Given the description of an element on the screen output the (x, y) to click on. 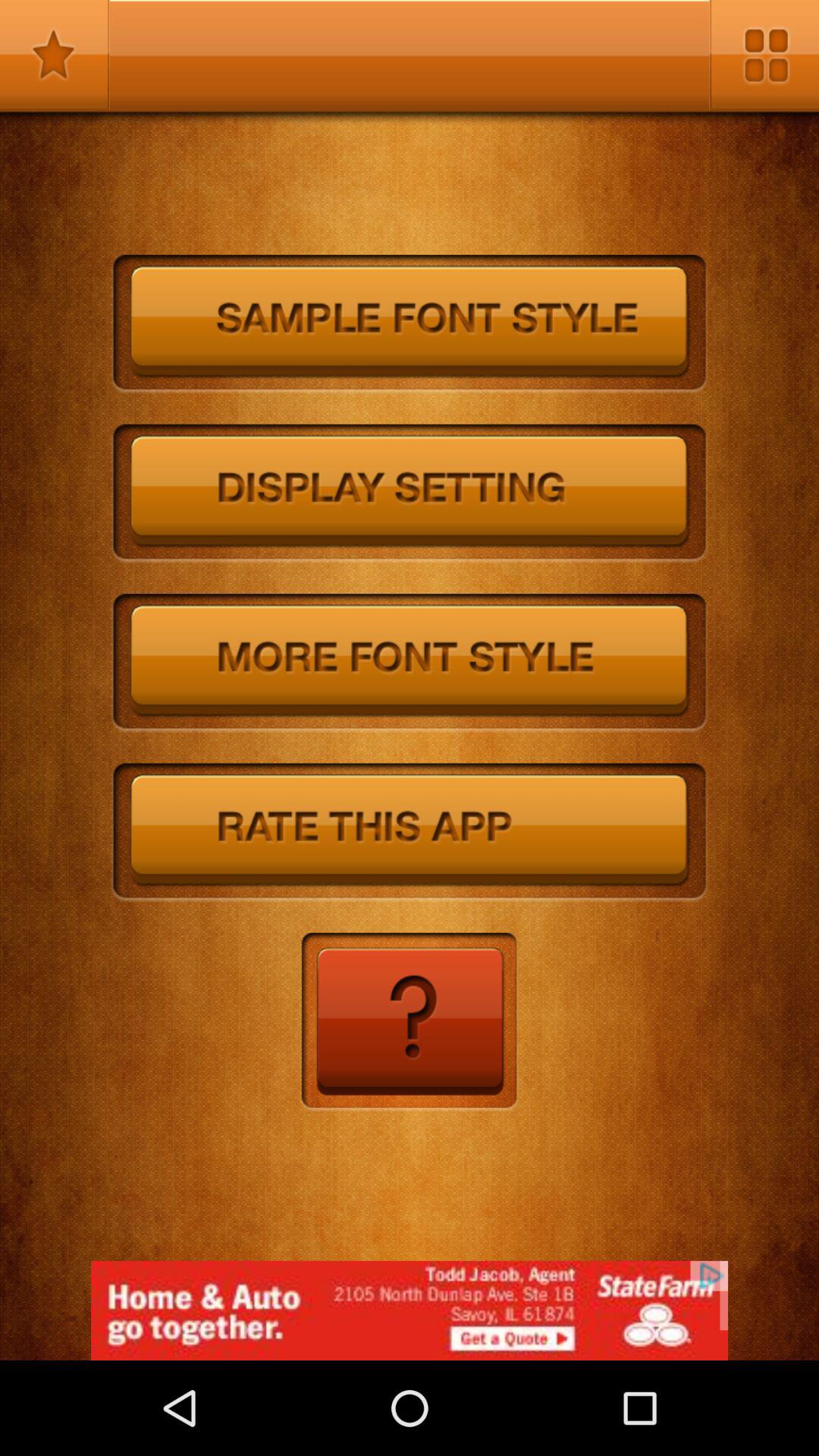
go back button option question mark (408, 1021)
